Given the description of an element on the screen output the (x, y) to click on. 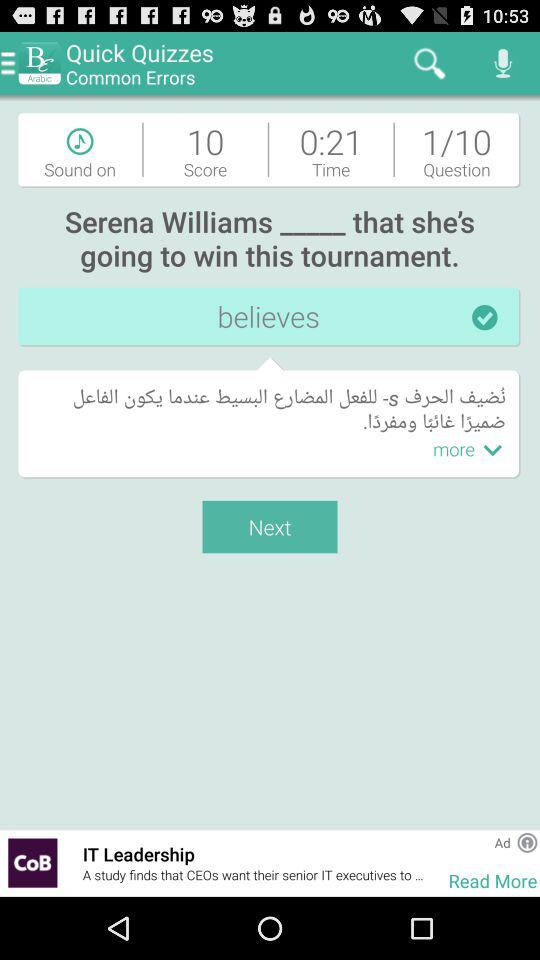
press the app next to ad app (527, 842)
